Given the description of an element on the screen output the (x, y) to click on. 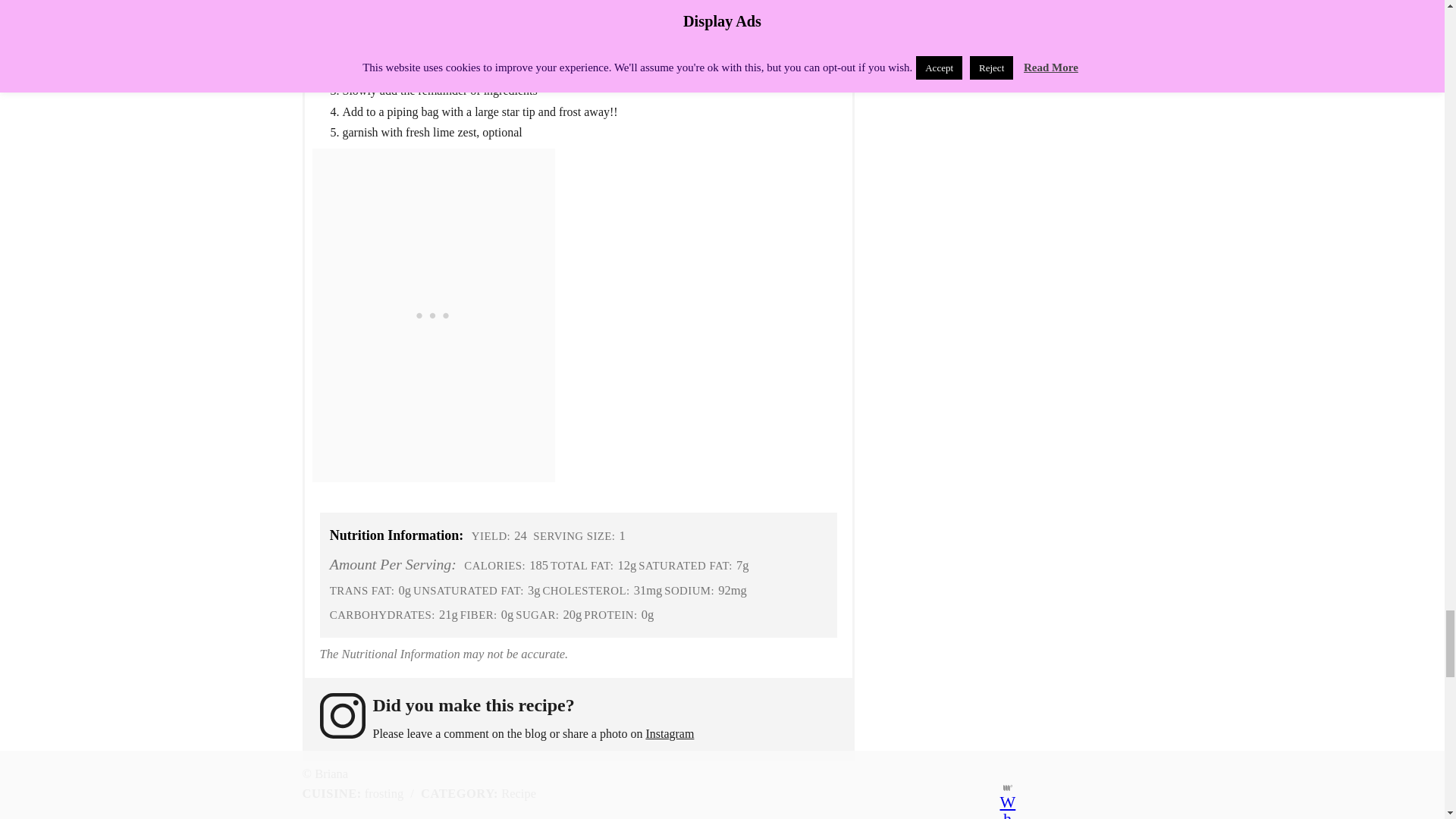
Instagram (669, 733)
